Given the description of an element on the screen output the (x, y) to click on. 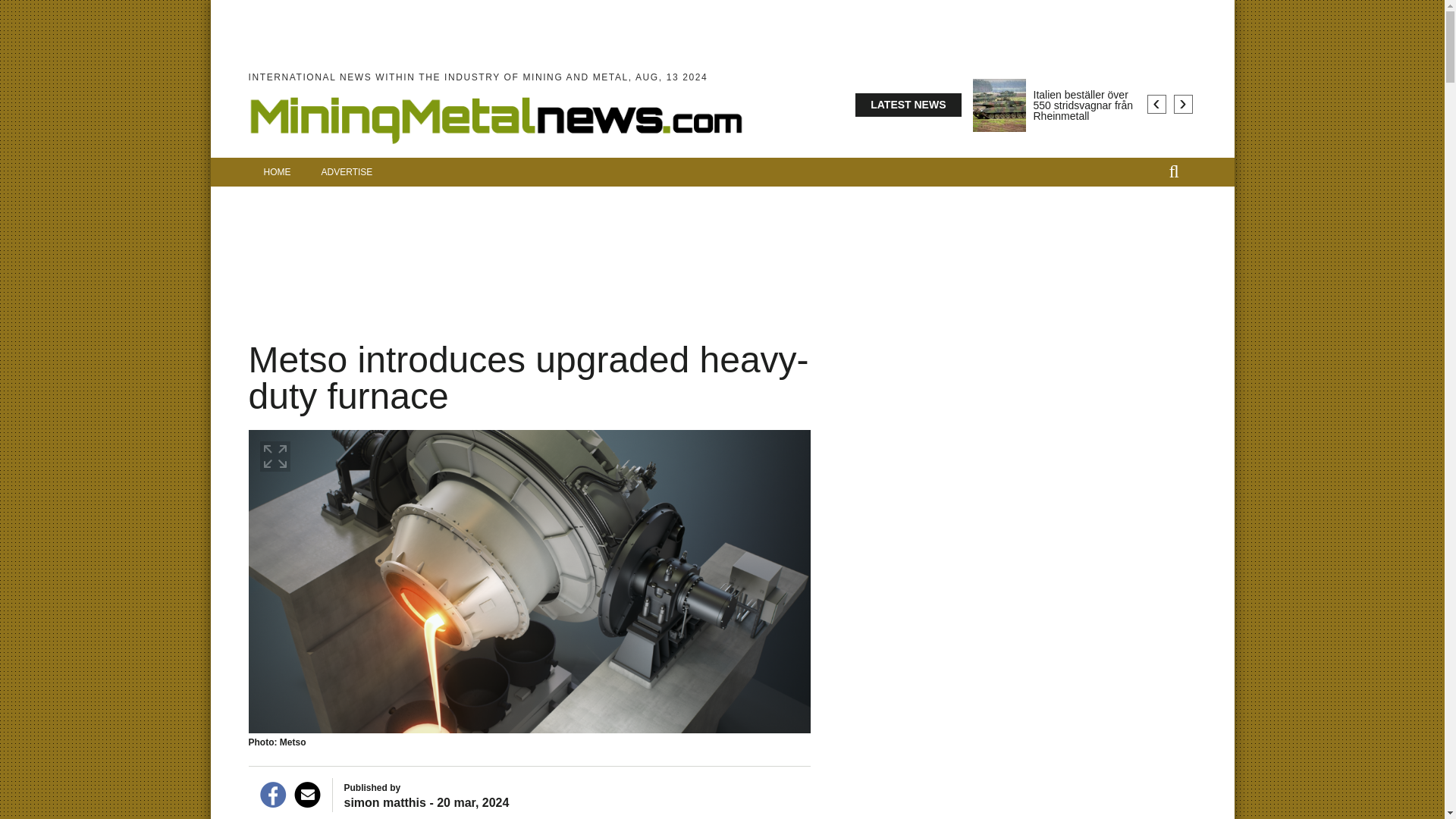
3rd party ad content (766, 318)
ADVERTISE (346, 172)
simon matthis (384, 802)
3rd party ad content (674, 318)
HOME (276, 172)
3rd party ad content (722, 246)
Hem (496, 147)
